Given the description of an element on the screen output the (x, y) to click on. 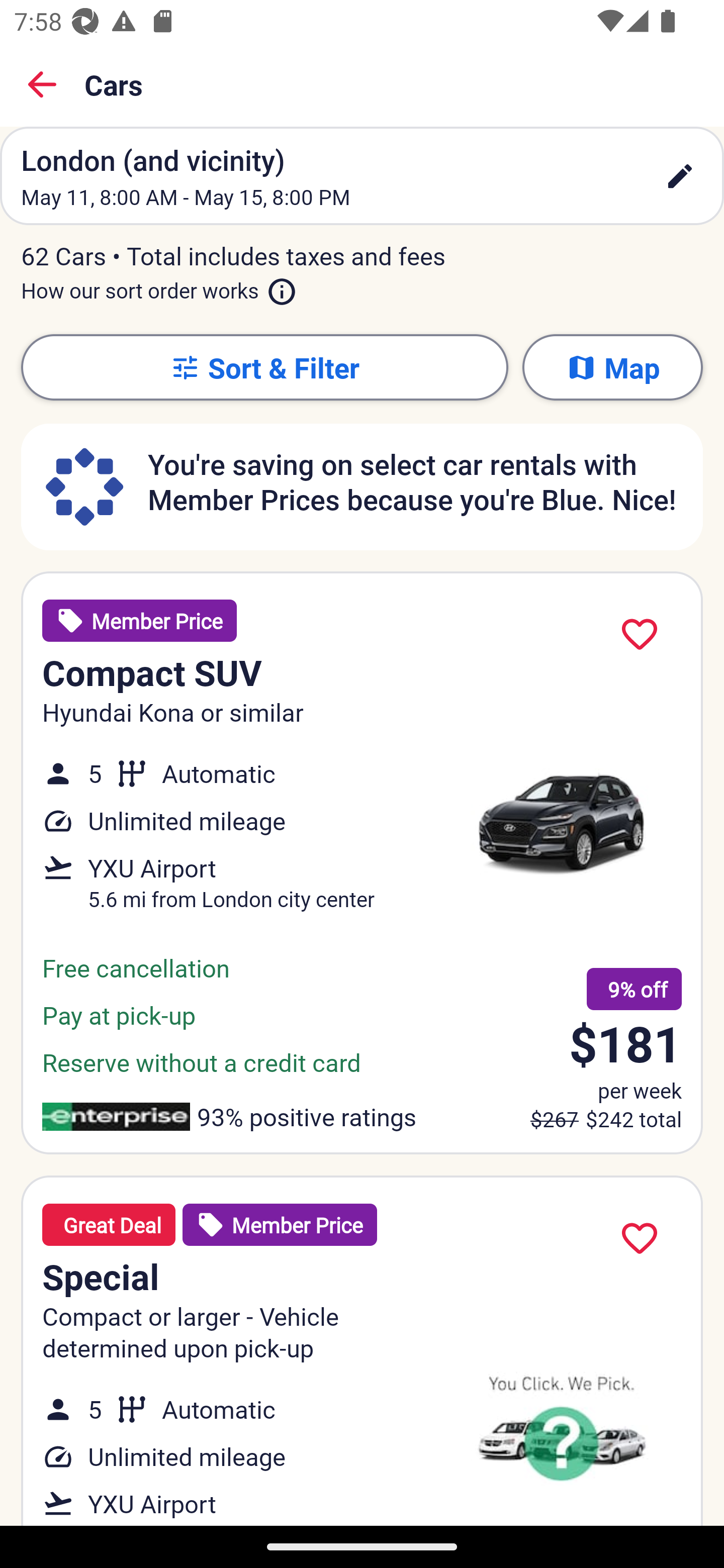
Back (42, 84)
edit (679, 175)
How our sort order works (158, 286)
Sort & Filter (264, 366)
Map (612, 366)
